Given the description of an element on the screen output the (x, y) to click on. 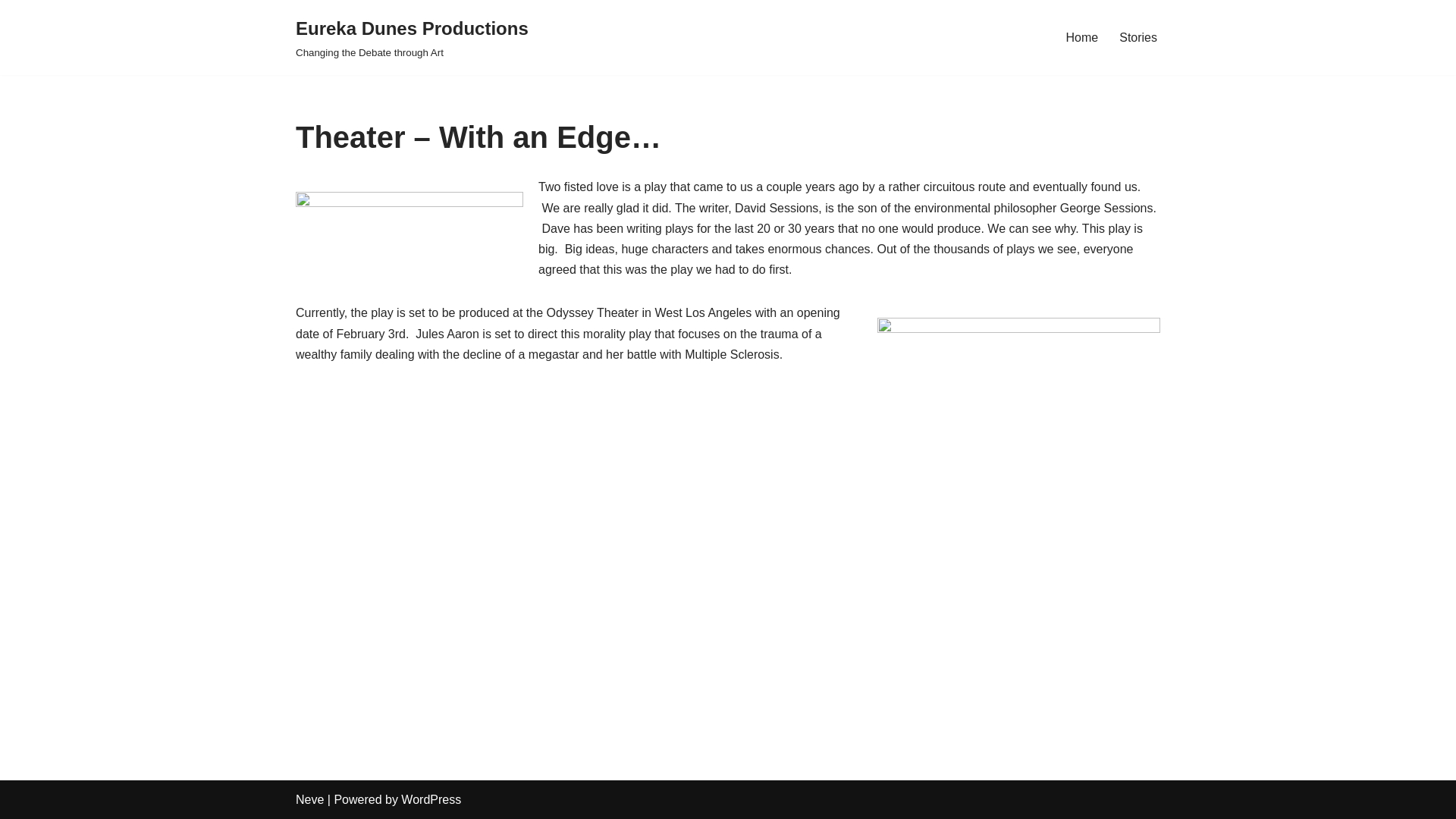
Skip to content (11, 31)
Stories (1138, 37)
Home (1082, 37)
WordPress (431, 799)
Neve (309, 799)
